Given the description of an element on the screen output the (x, y) to click on. 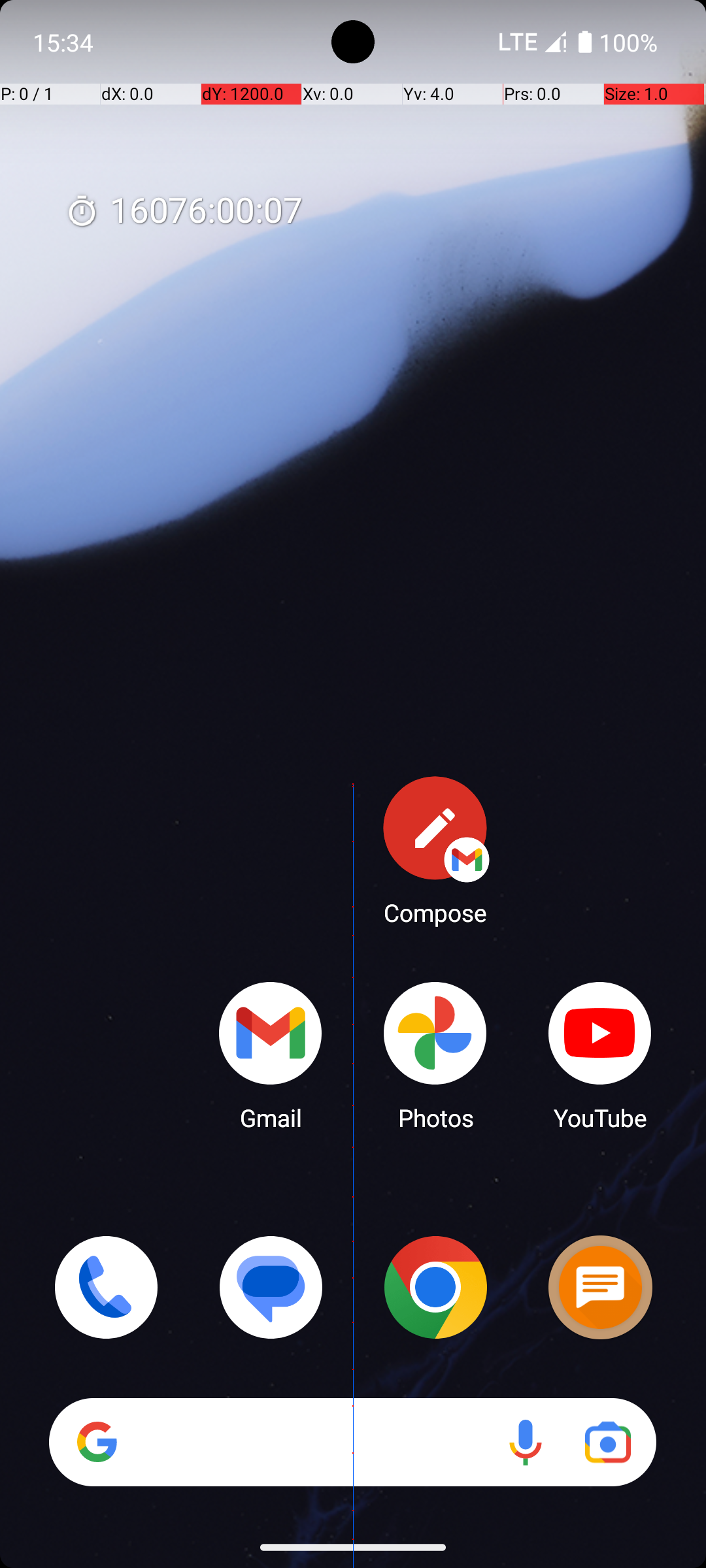
16076:00:07 Element type: android.widget.TextView (183, 210)
Compose Element type: android.widget.TextView (435, 849)
